Given the description of an element on the screen output the (x, y) to click on. 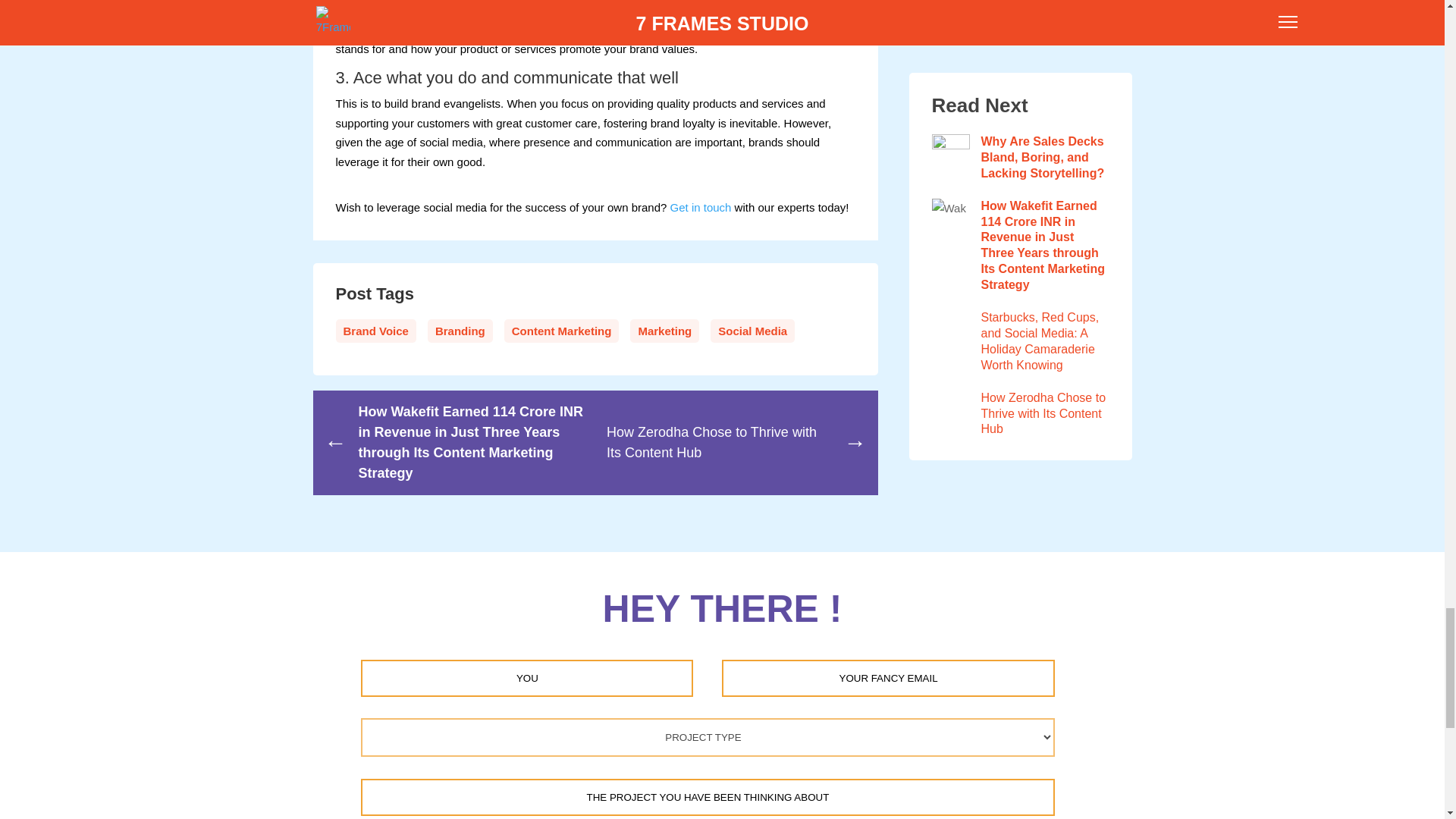
Brand Voice (374, 331)
Social Media (752, 331)
Branding (460, 331)
Content Marketing (561, 331)
Marketing (664, 331)
Get in touch (700, 206)
